Given the description of an element on the screen output the (x, y) to click on. 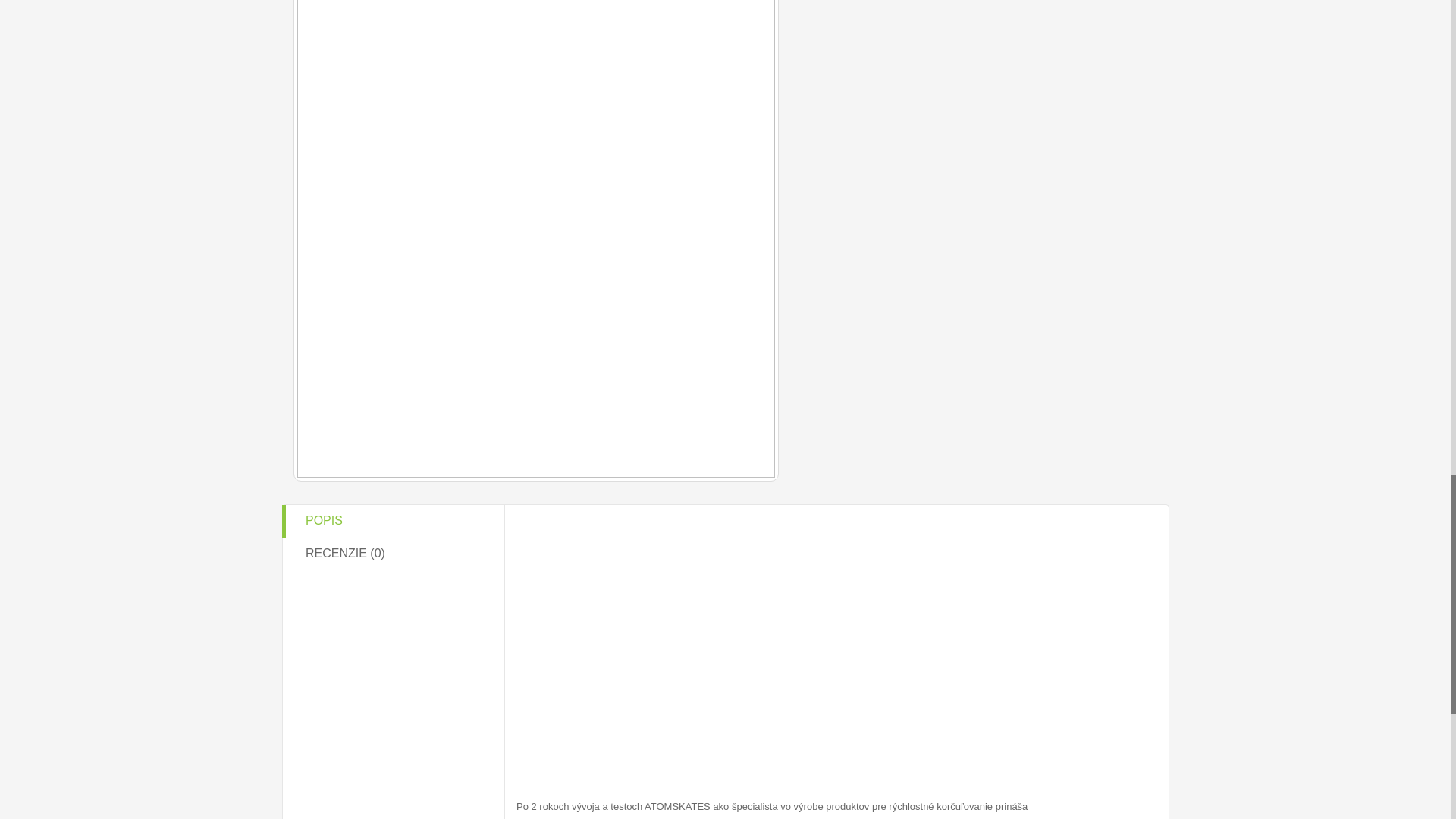
POPIS (392, 520)
